Given the description of an element on the screen output the (x, y) to click on. 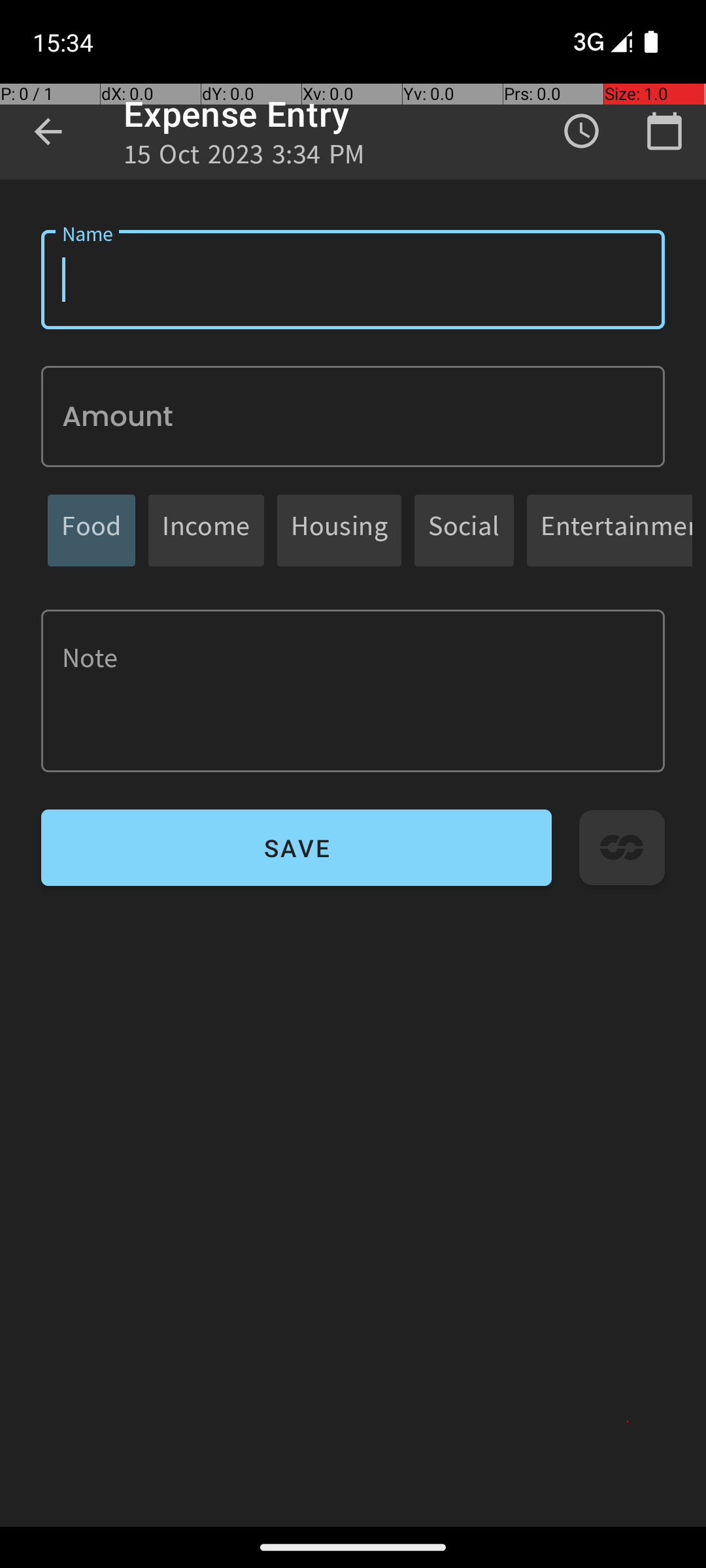
Name Element type: android.widget.EditText (352, 279)
